Given the description of an element on the screen output the (x, y) to click on. 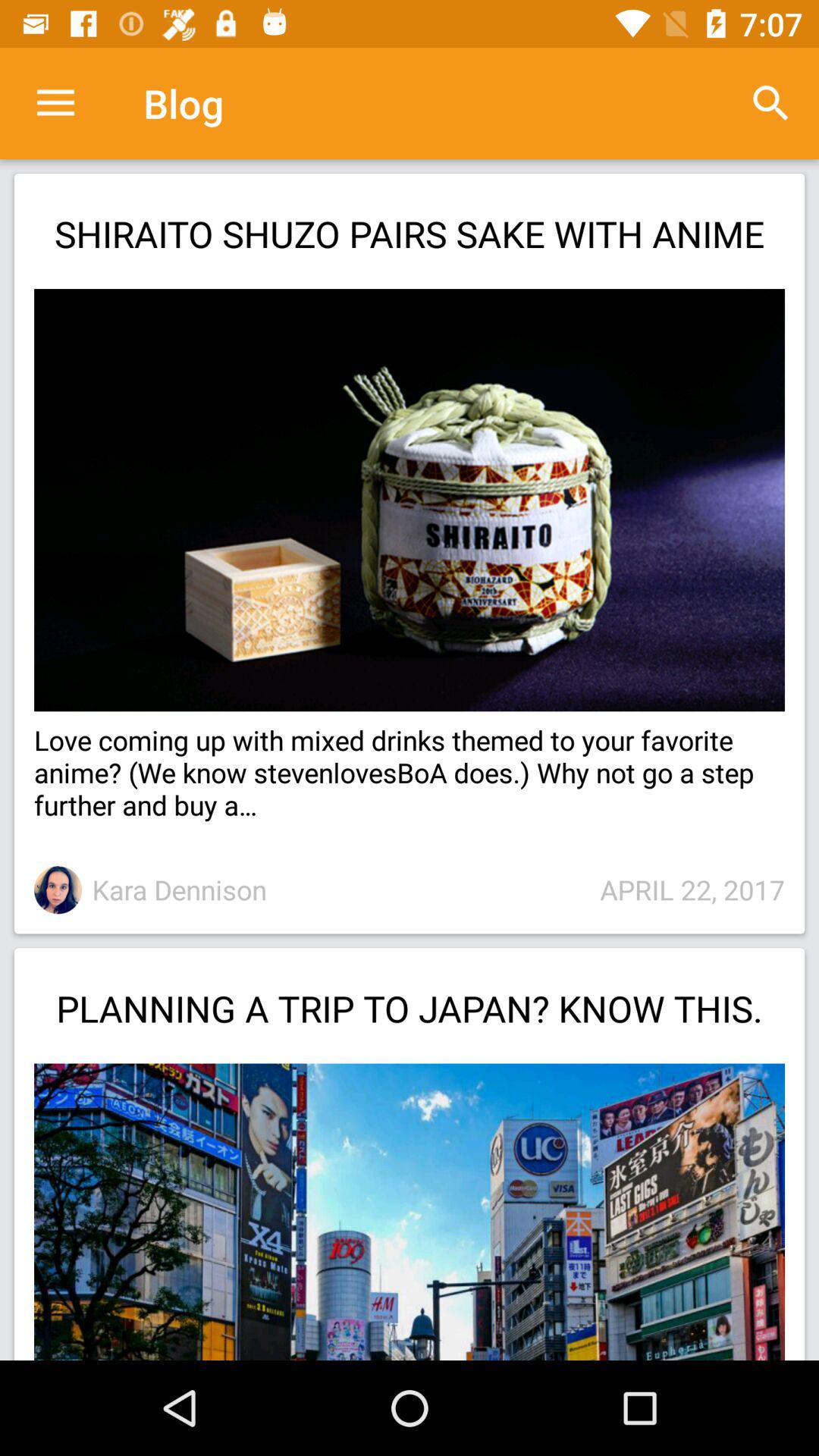
choose item above the shiraito shuzo pairs item (55, 103)
